Given the description of an element on the screen output the (x, y) to click on. 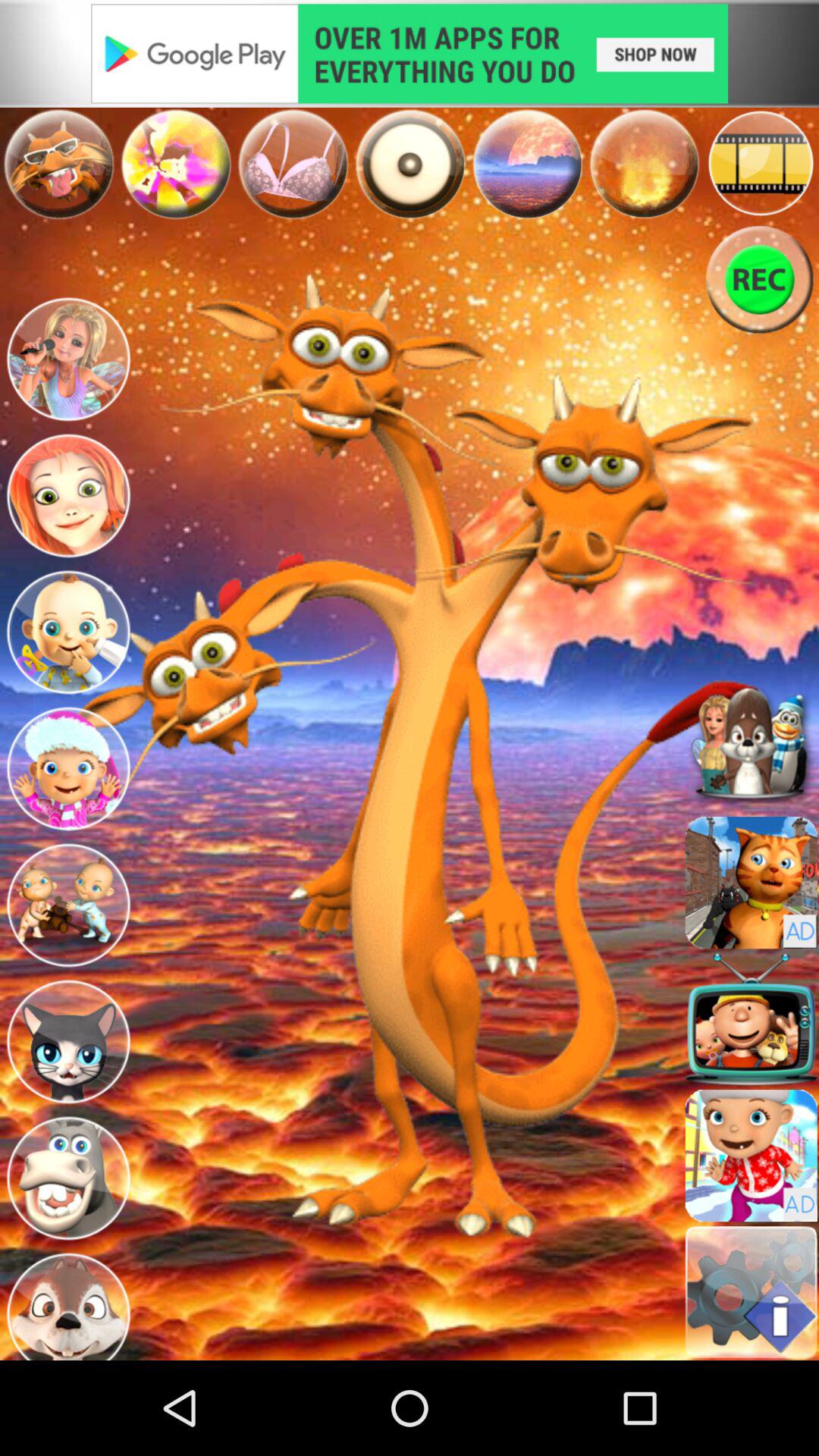
more setting (751, 1291)
